Given the description of an element on the screen output the (x, y) to click on. 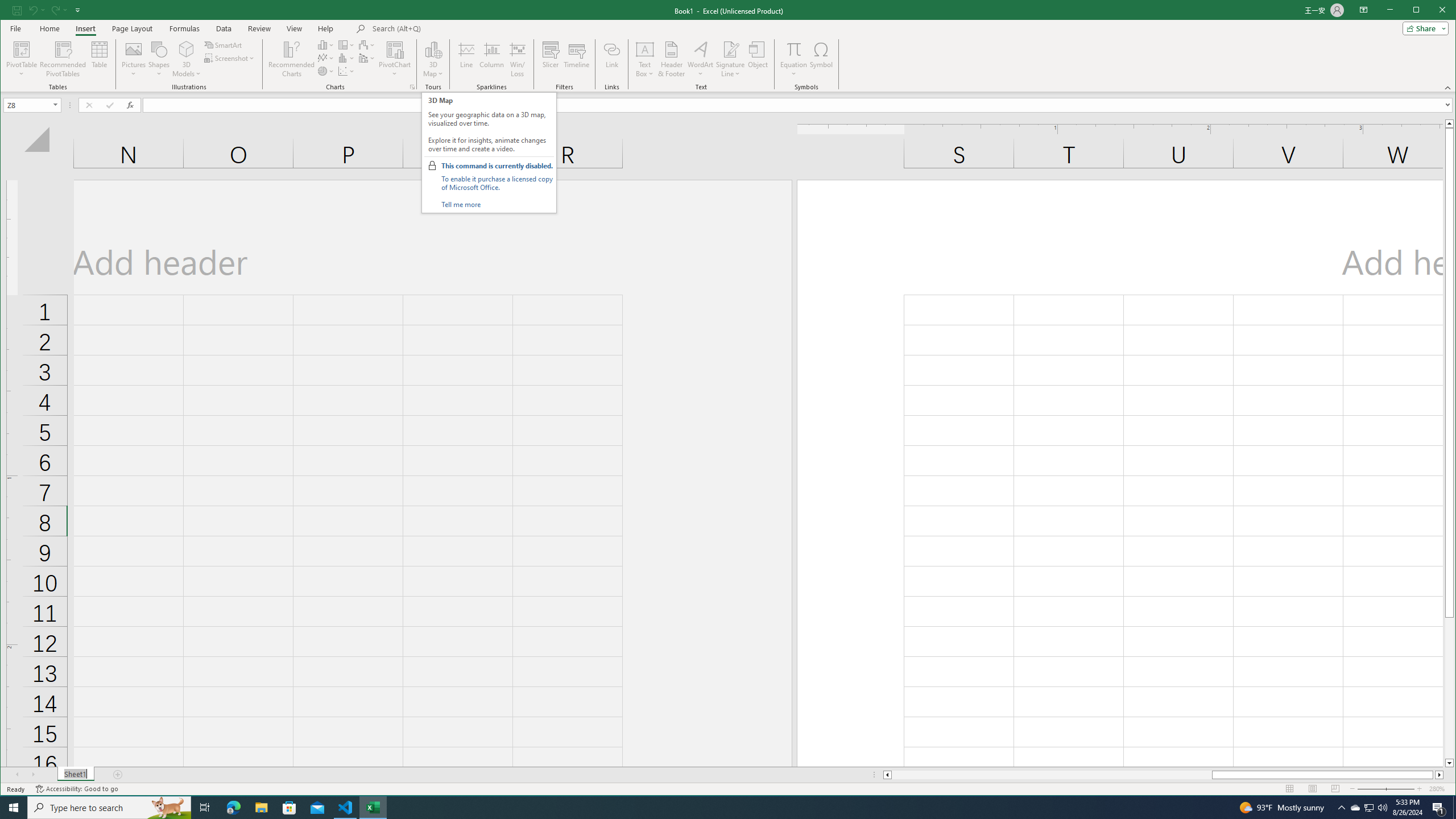
Action Center, 1 new notification (1439, 807)
Text Box (644, 59)
Insert Column or Bar Chart (325, 44)
Insert Pie or Doughnut Chart (325, 70)
Search highlights icon opens search home window (167, 807)
Line (466, 59)
3D Models (186, 48)
Shapes (159, 59)
